Given the description of an element on the screen output the (x, y) to click on. 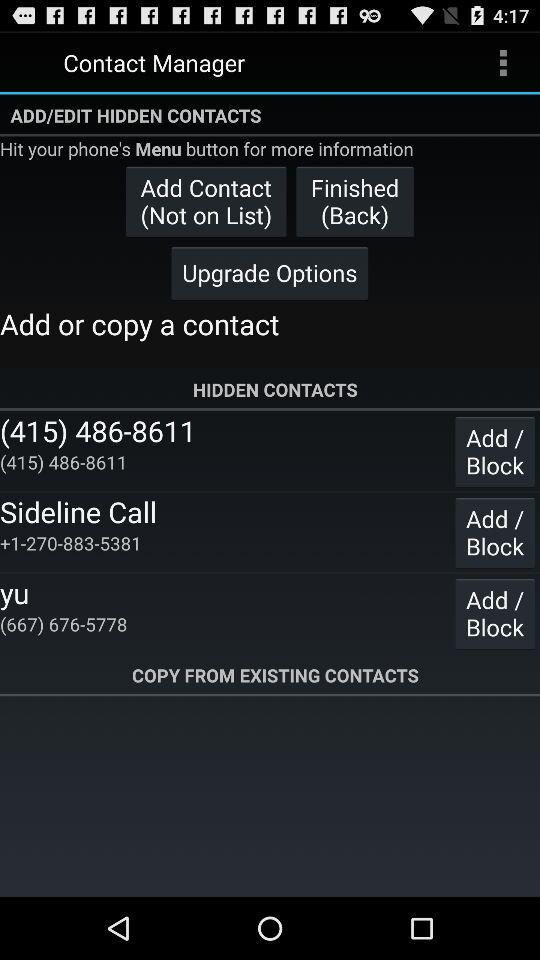
click on the first addblock button from top (494, 450)
